Given the description of an element on the screen output the (x, y) to click on. 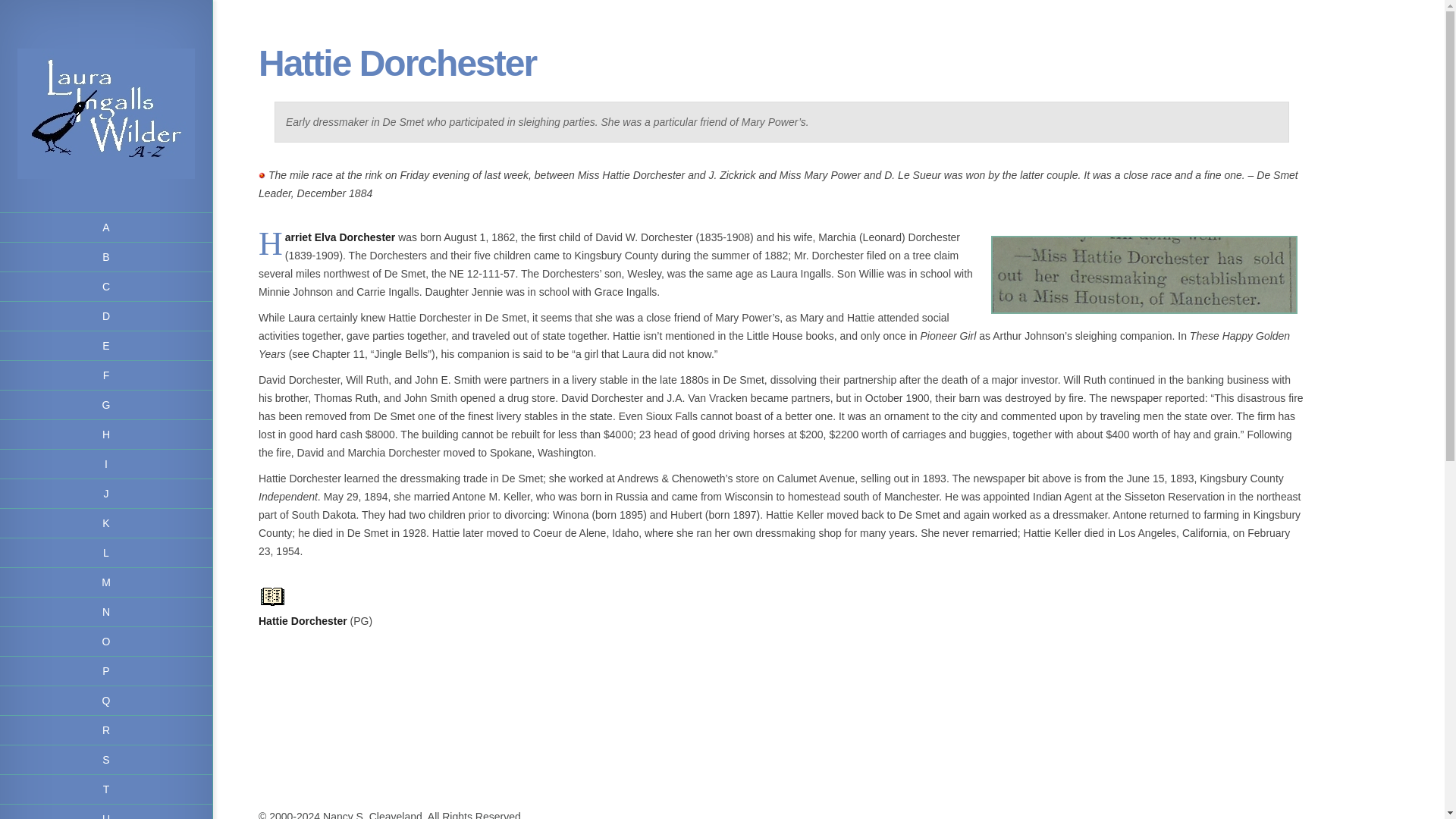
T (106, 789)
S (106, 759)
R (106, 730)
M (106, 582)
I (106, 464)
N (106, 612)
J (106, 493)
D (106, 316)
L (106, 553)
H (106, 434)
P (106, 671)
C (106, 286)
A (106, 227)
B (106, 256)
O (106, 641)
